Given the description of an element on the screen output the (x, y) to click on. 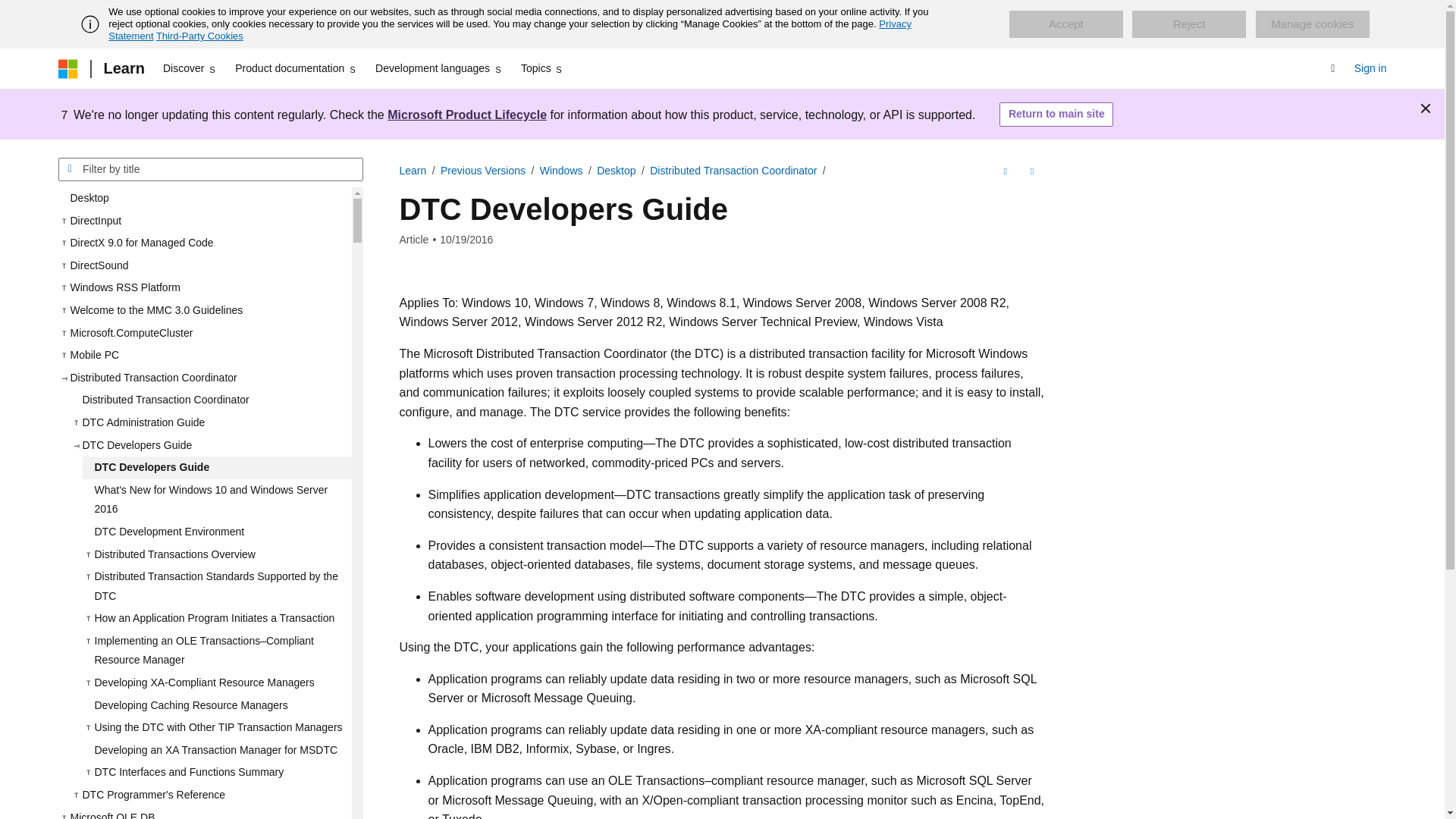
Developing an XA Transaction Manager for MSDTC (215, 750)
What's New for Windows 10 and Windows Server 2016 (215, 499)
Manage cookies (1312, 23)
Reject (1189, 23)
Return to main site (1055, 114)
Distributed Transaction Coordinator (209, 400)
Sign in (1370, 68)
Dismiss alert (1425, 108)
Topics (542, 68)
Microsoft Product Lifecycle (467, 114)
